Given the description of an element on the screen output the (x, y) to click on. 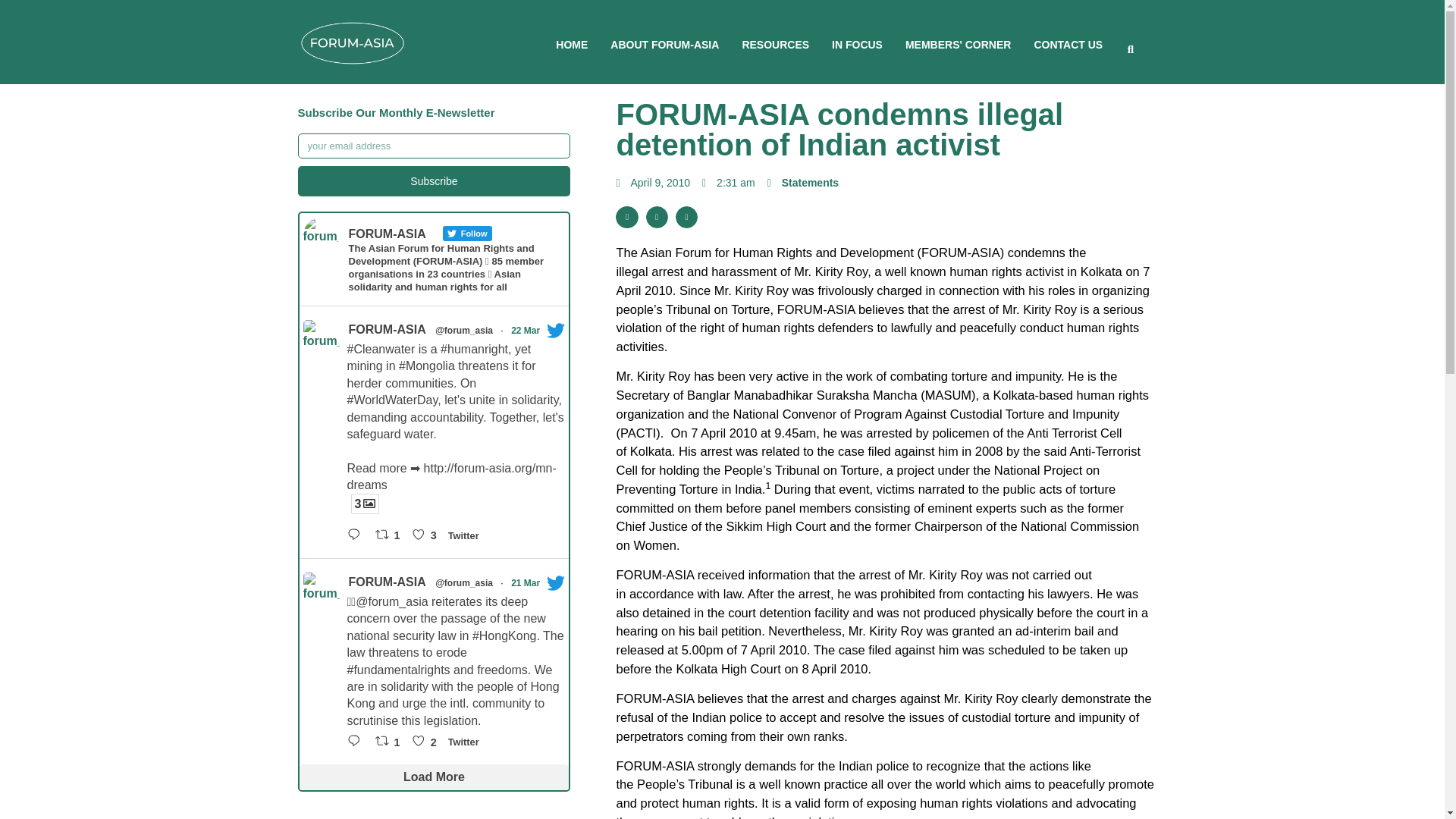
ABOUT FORUM-ASIA (664, 44)
MEMBERS' CORNER (957, 44)
RESOURCES (774, 44)
CONTACT US (1067, 44)
HOME (571, 44)
IN FOCUS (856, 44)
